Given the description of an element on the screen output the (x, y) to click on. 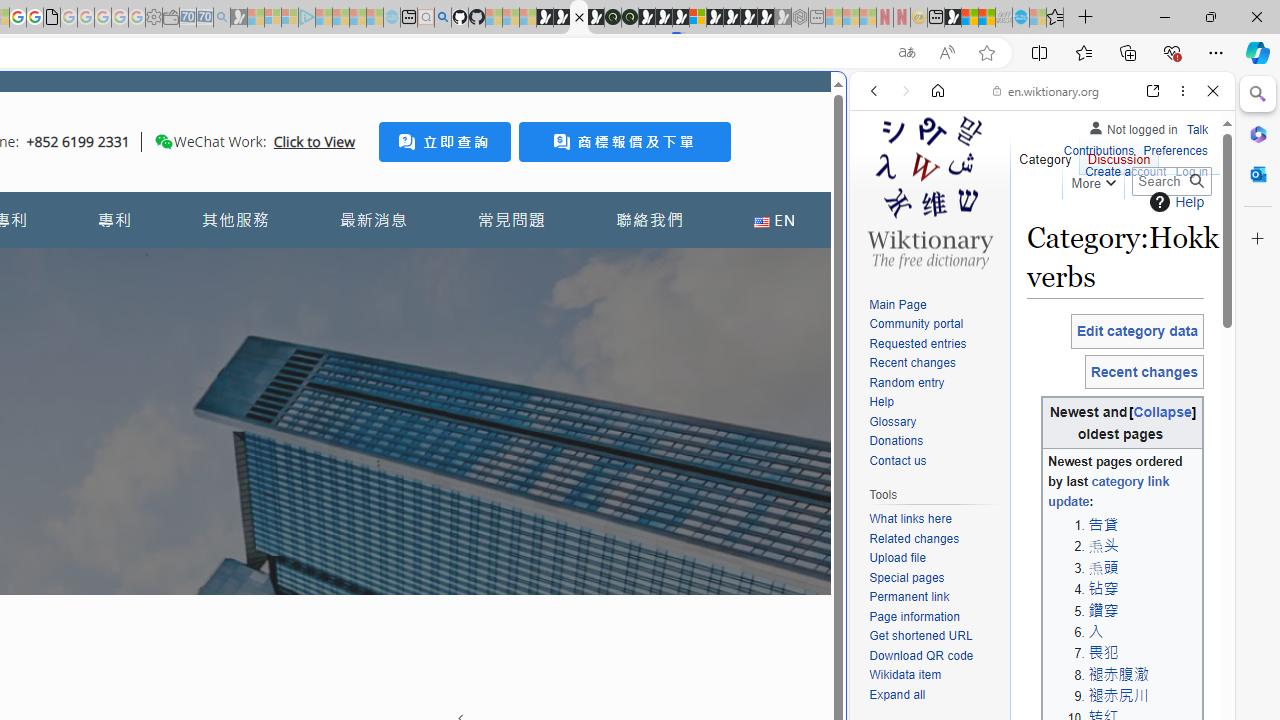
Recent changes (934, 363)
